Given the description of an element on the screen output the (x, y) to click on. 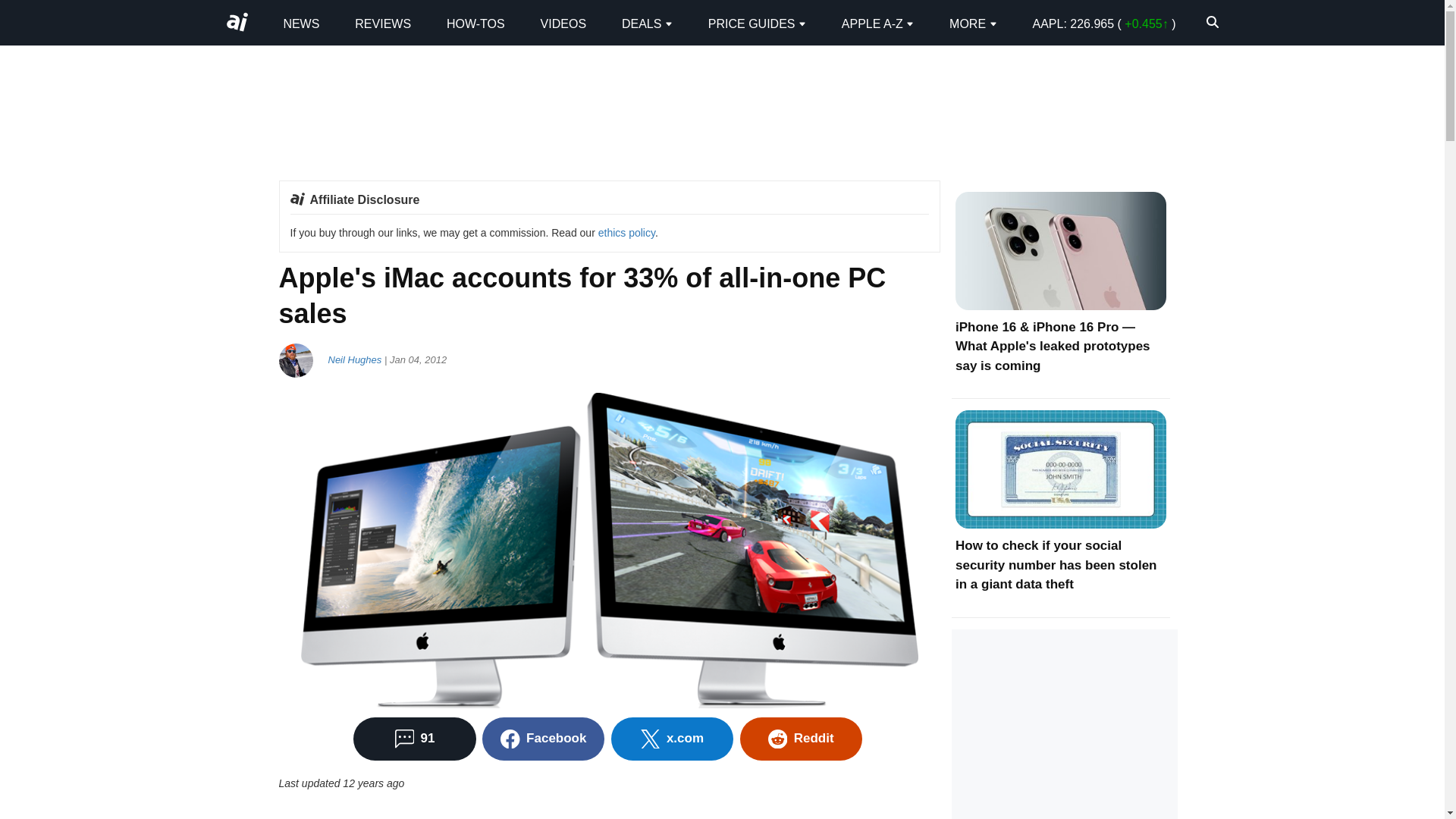
Videos (563, 23)
REVIEWS (382, 23)
NEWS (300, 23)
News (300, 23)
VIDEOS (563, 23)
HOW-TOS (475, 23)
Reviews (382, 23)
How-Tos (475, 23)
